Given the description of an element on the screen output the (x, y) to click on. 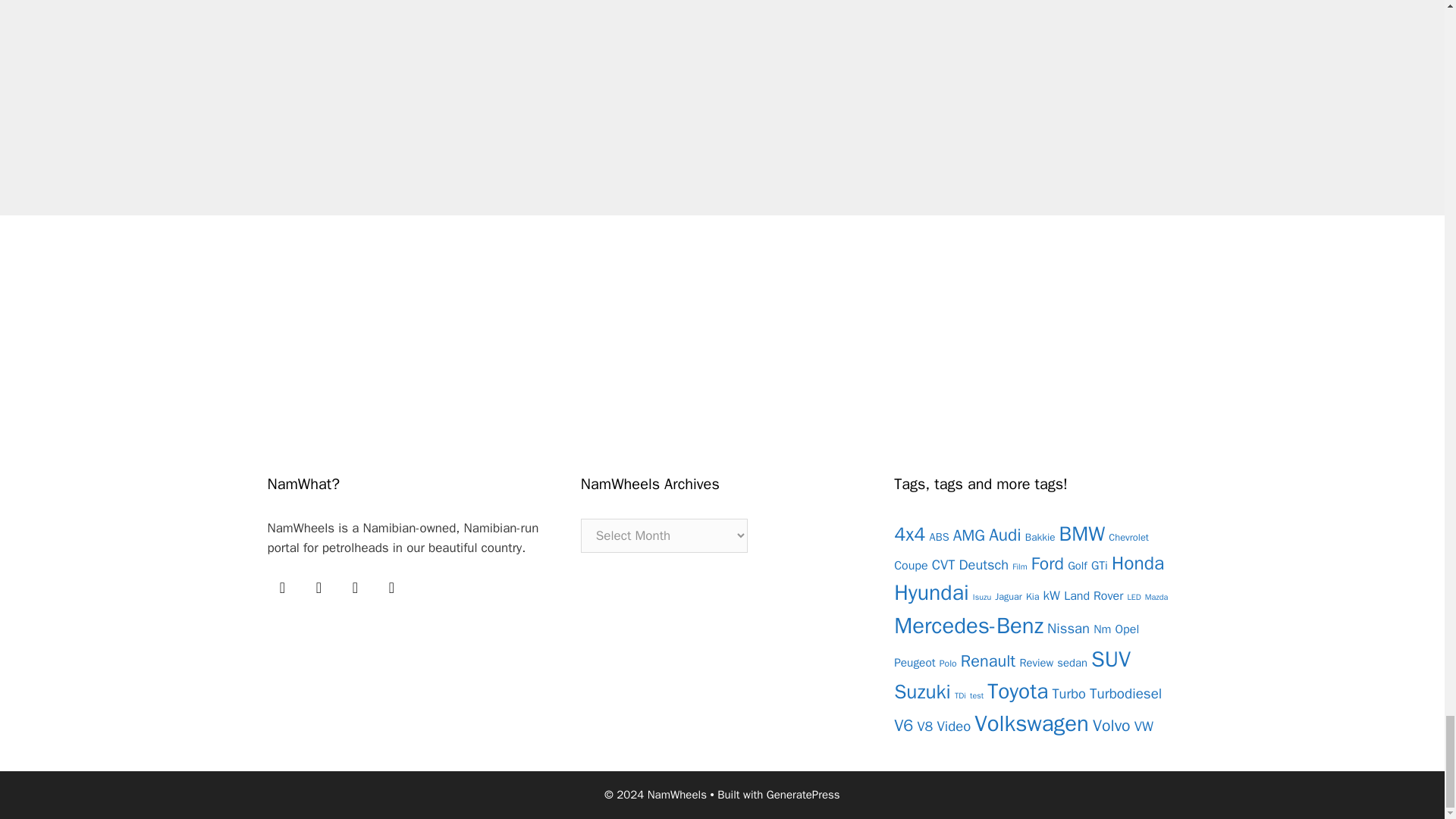
Twitter (317, 587)
YouTube (354, 587)
Instagram (390, 587)
Facebook (281, 587)
